Given the description of an element on the screen output the (x, y) to click on. 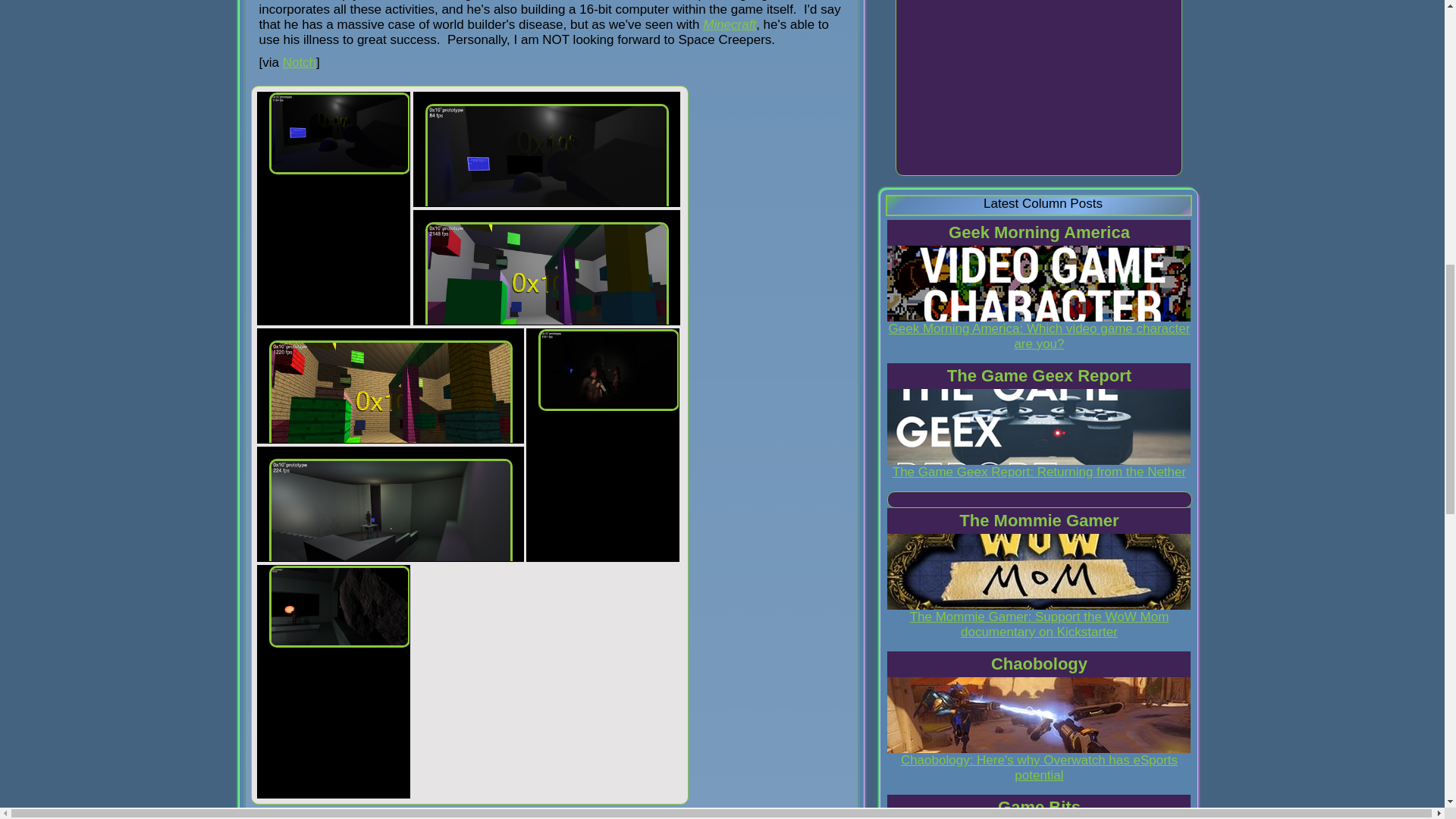
Advertisement (1038, 87)
Minecraft (729, 24)
Game Geex gets a 1 Up (1038, 426)
Gaming with Character (1038, 283)
Notch (298, 62)
